Given the description of an element on the screen output the (x, y) to click on. 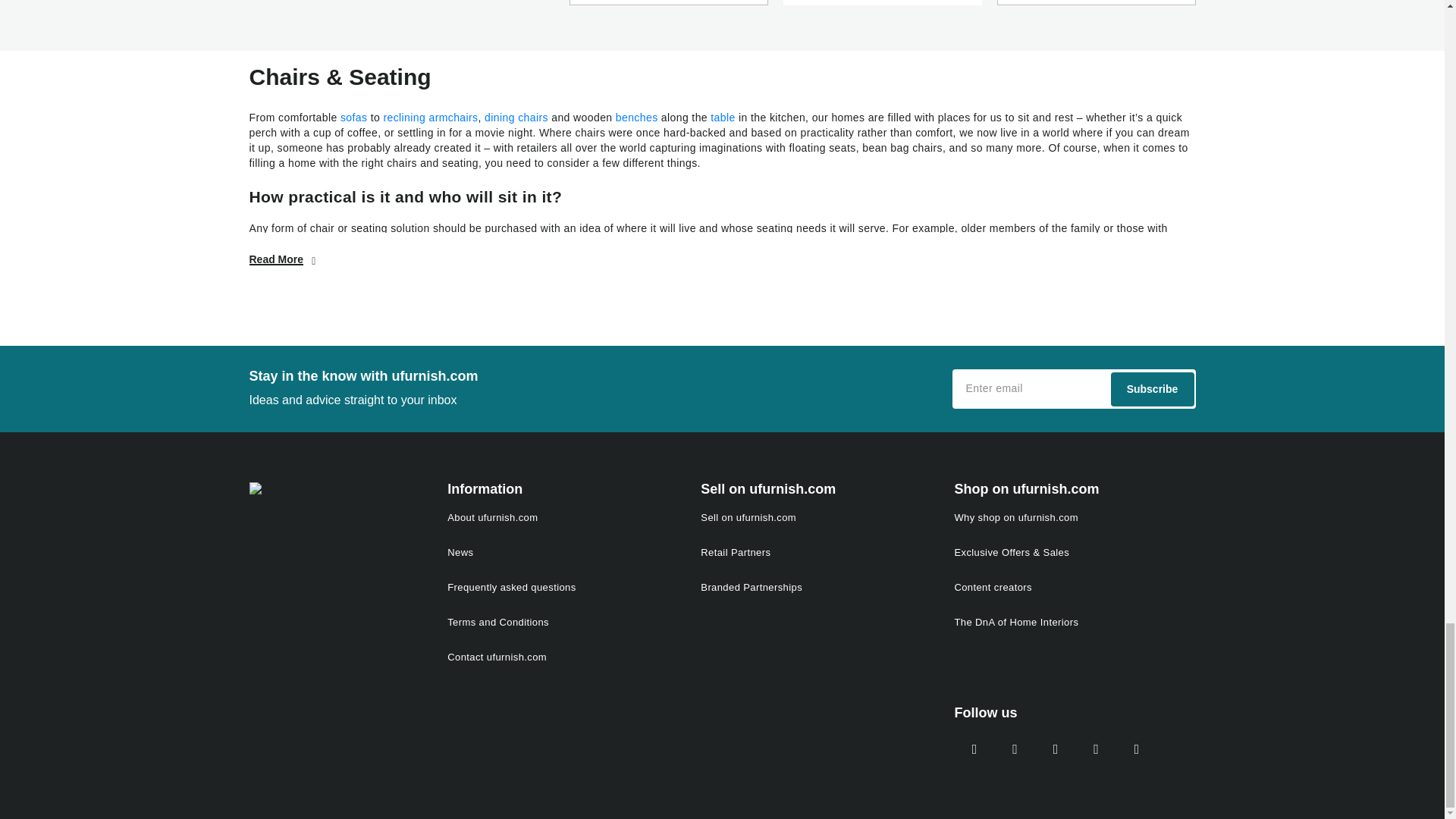
Discover furniture from retailers across the UK market (722, 25)
